Given the description of an element on the screen output the (x, y) to click on. 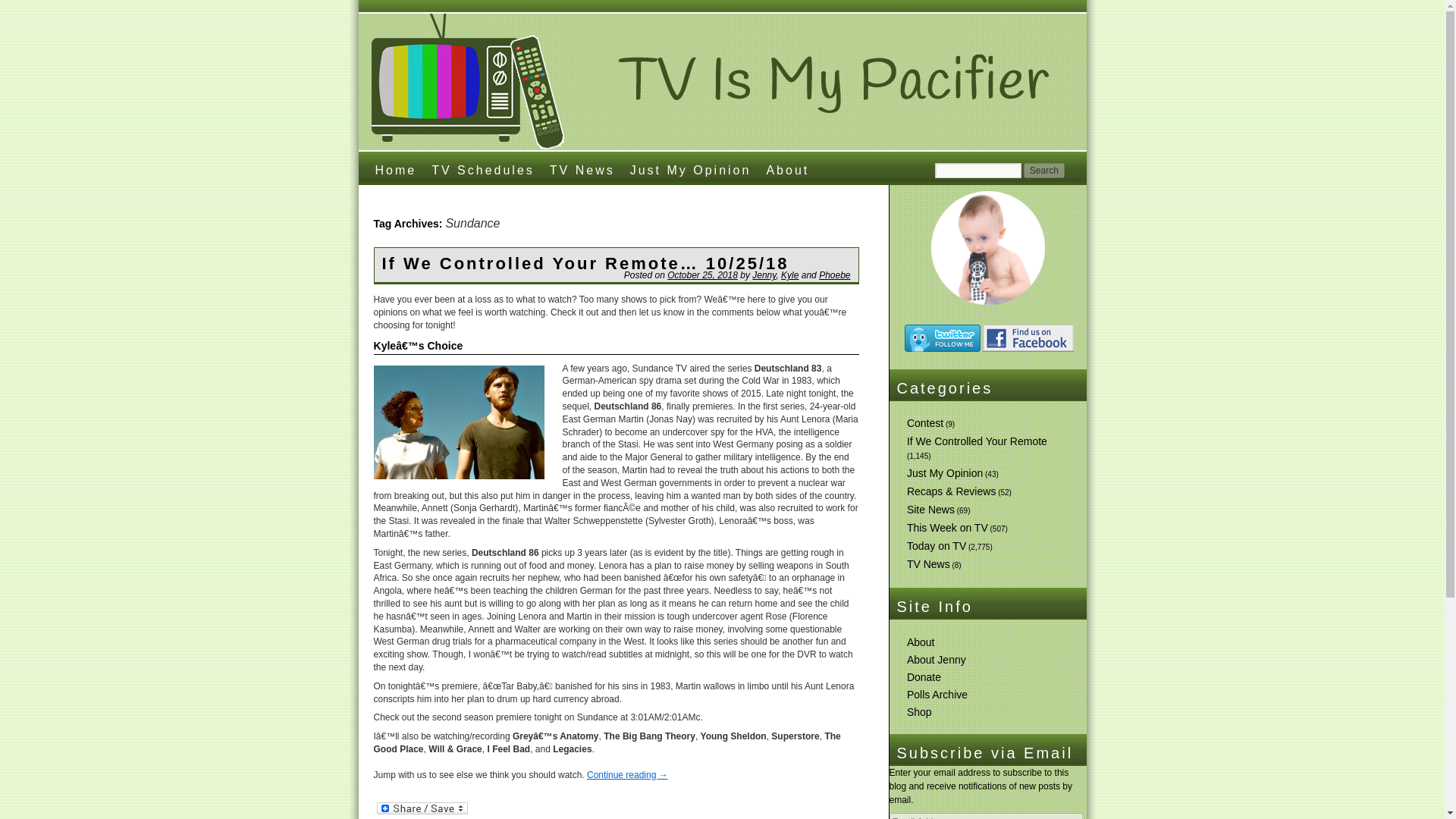
Posts by Phoebe (834, 275)
Just My Opinion (944, 472)
Posts by Jenny (764, 275)
Search (1043, 170)
Phoebe (834, 275)
About Jenny (936, 659)
Today on TV (936, 545)
Polls Archive (937, 694)
If We Controlled Your Remote (976, 440)
About (920, 642)
Donate (923, 676)
8:00 am (702, 275)
Just My Opinion (690, 168)
This Week on TV (947, 527)
Jenny (764, 275)
